Given the description of an element on the screen output the (x, y) to click on. 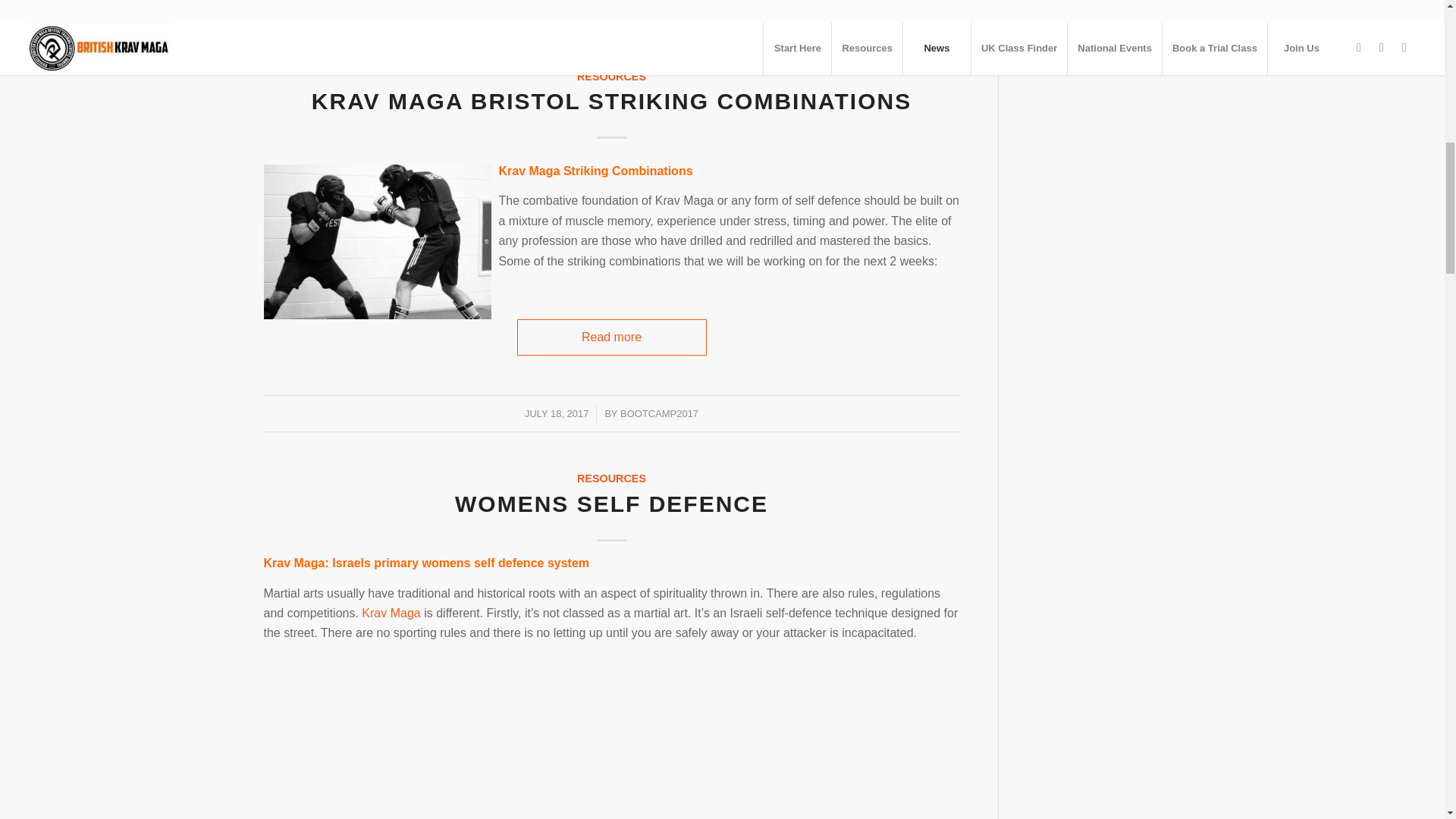
Posts by bootcamp2017 (659, 413)
Permanent Link: Womens Self Defence (611, 503)
Posts by bootcamp2017 (659, 10)
Permanent Link: Krav Maga Bristol Striking combinations (611, 100)
